Given the description of an element on the screen output the (x, y) to click on. 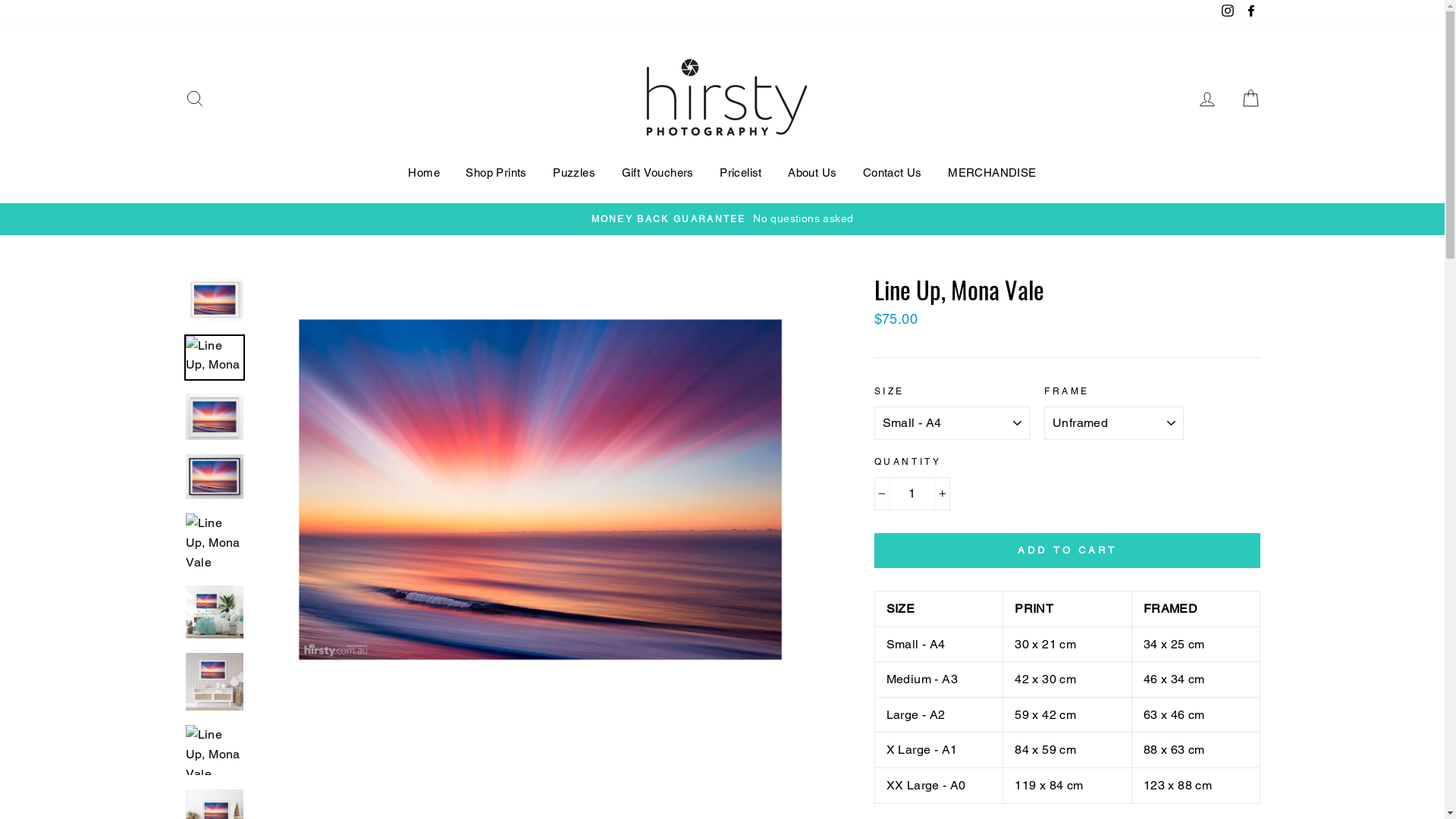
+ Element type: text (942, 493)
ADD TO CART Element type: text (1067, 550)
Search Element type: text (193, 98)
Cart Element type: text (1249, 98)
Facebook Element type: text (1250, 12)
Home Element type: text (423, 173)
Instagram Element type: text (1227, 12)
Skip to content Element type: text (0, 0)
Pricelist Element type: text (740, 173)
Gift Vouchers Element type: text (656, 173)
Puzzles Element type: text (573, 173)
About Us Element type: text (811, 173)
Shop Prints Element type: text (495, 173)
MERCHANDISE Element type: text (991, 173)
Log in Element type: text (1206, 98)
Contact Us Element type: text (892, 173)
